Given the description of an element on the screen output the (x, y) to click on. 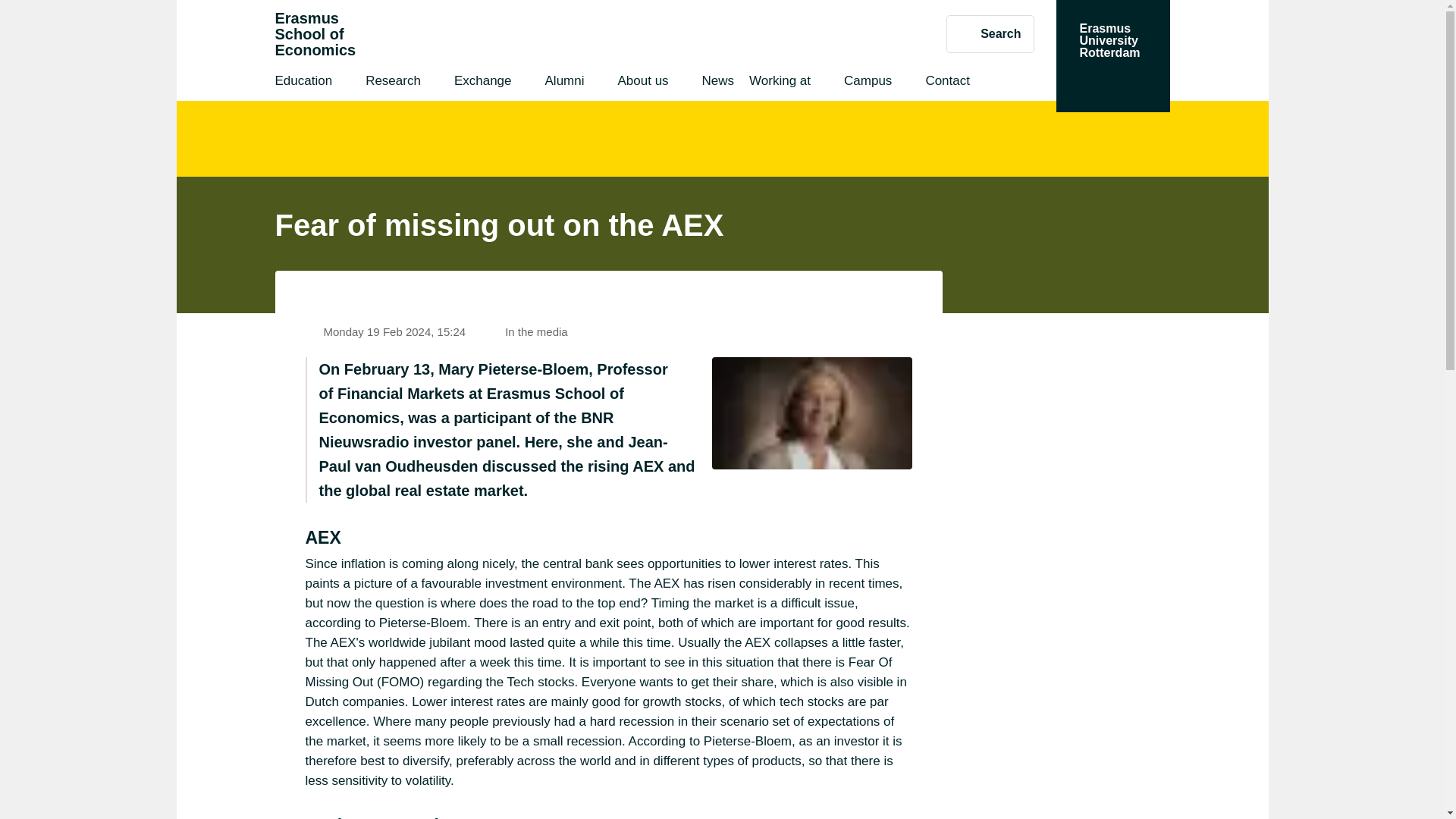
Education (302, 82)
Listen to this page using ReadSpeaker (923, 290)
Search (989, 33)
Exchange (315, 34)
Research (1112, 56)
